Given the description of an element on the screen output the (x, y) to click on. 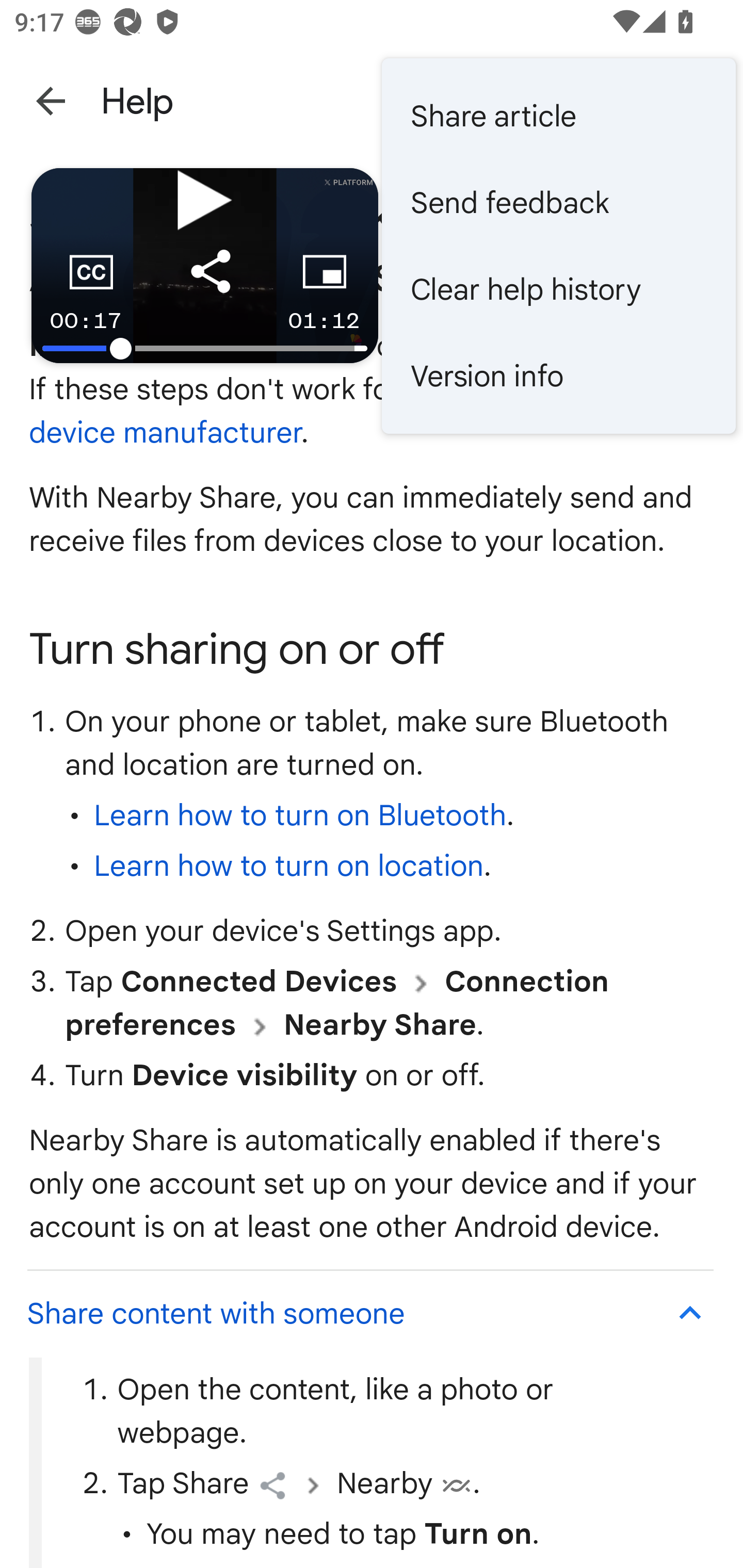
Share article (558, 115)
Send feedback (558, 202)
Clear help history (558, 289)
Version info (558, 375)
